Given the description of an element on the screen output the (x, y) to click on. 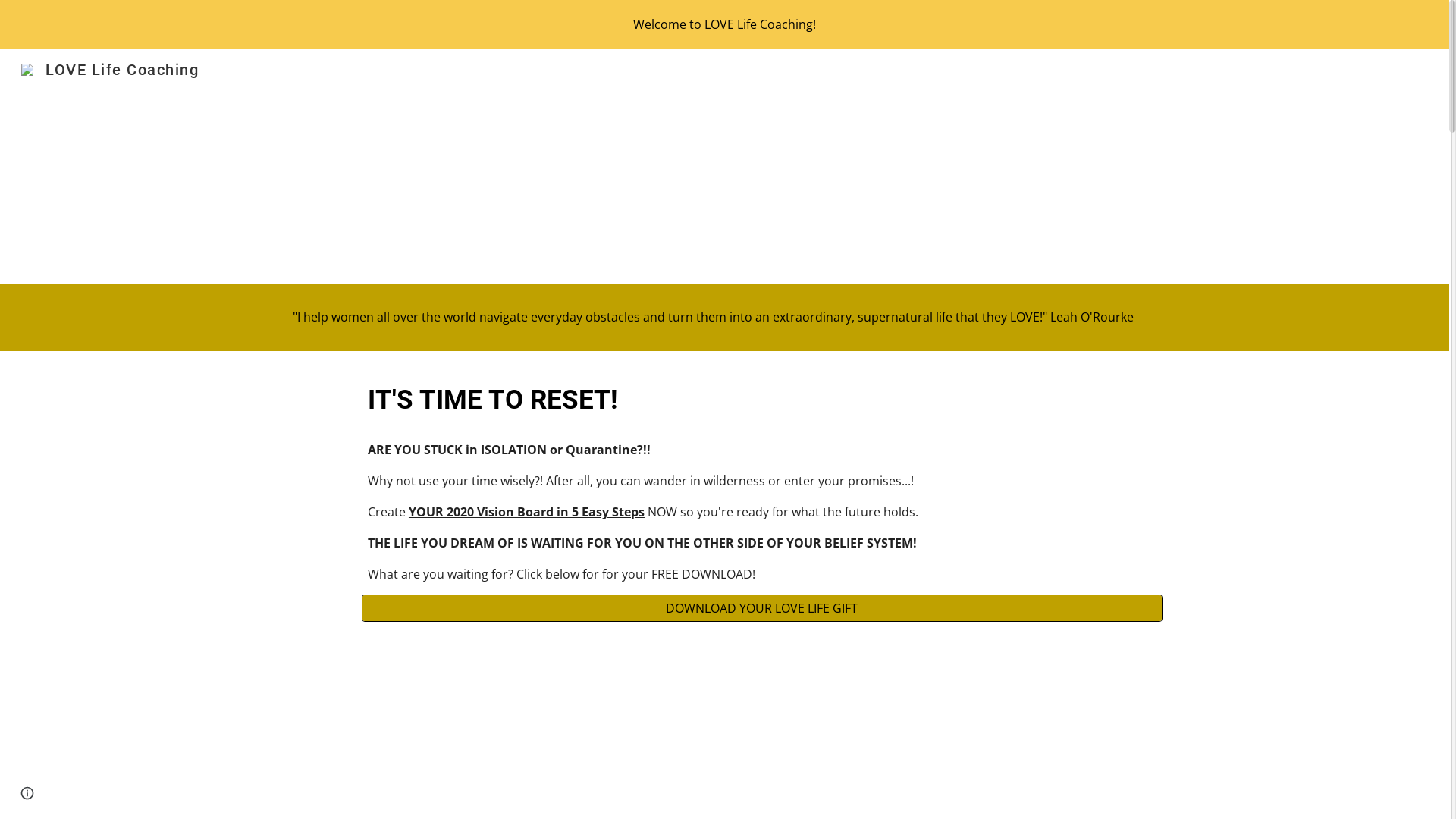
DOWNLOAD YOUR LOVE LIFE GIFT Element type: text (761, 607)
YOUR 2020 Vision Board in 5 Easy Steps Element type: text (526, 511)
LOVE Life Coaching Element type: text (109, 68)
